Given the description of an element on the screen output the (x, y) to click on. 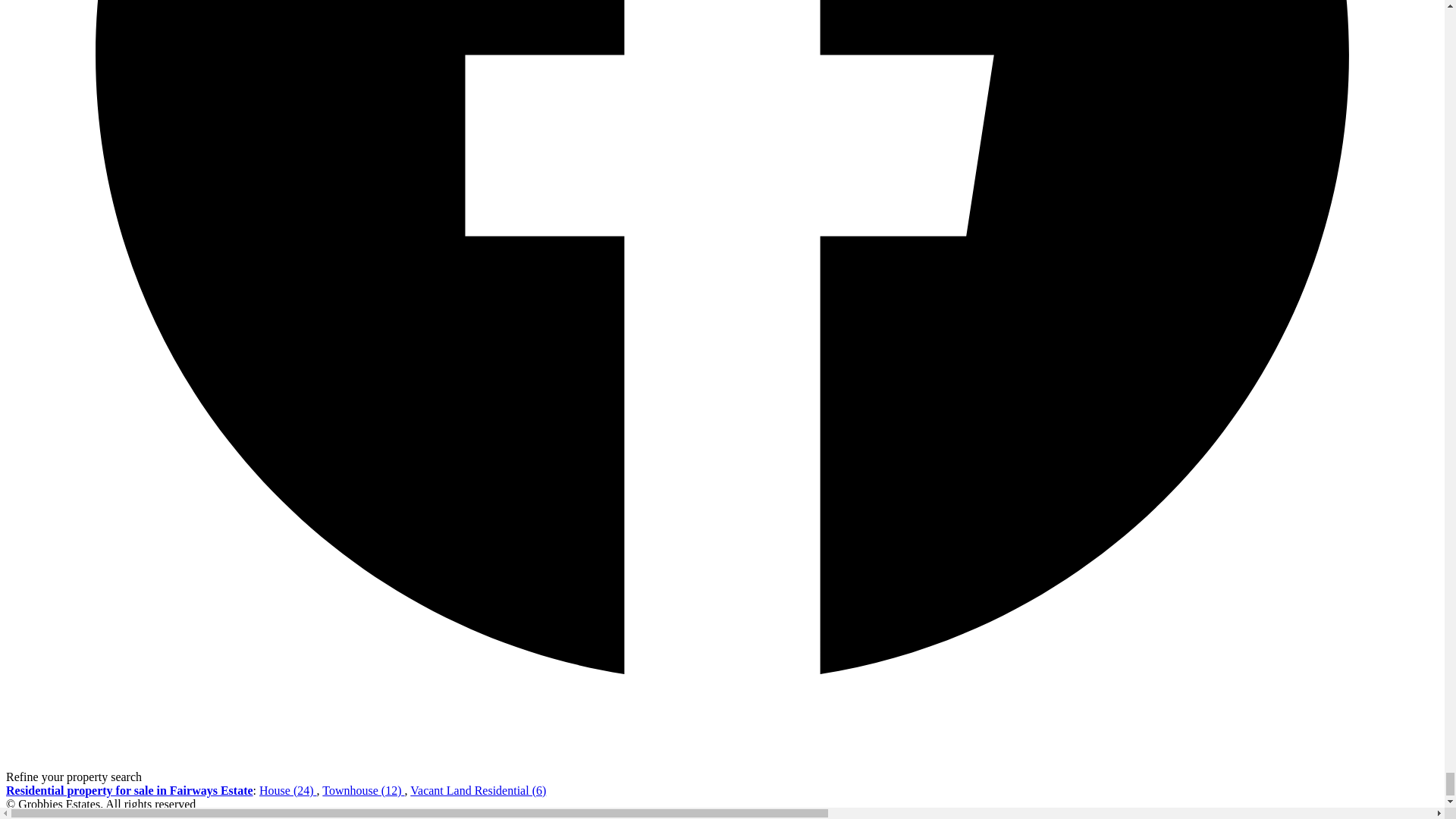
Residential property for sale in Fairways Estate (129, 789)
